Given the description of an element on the screen output the (x, y) to click on. 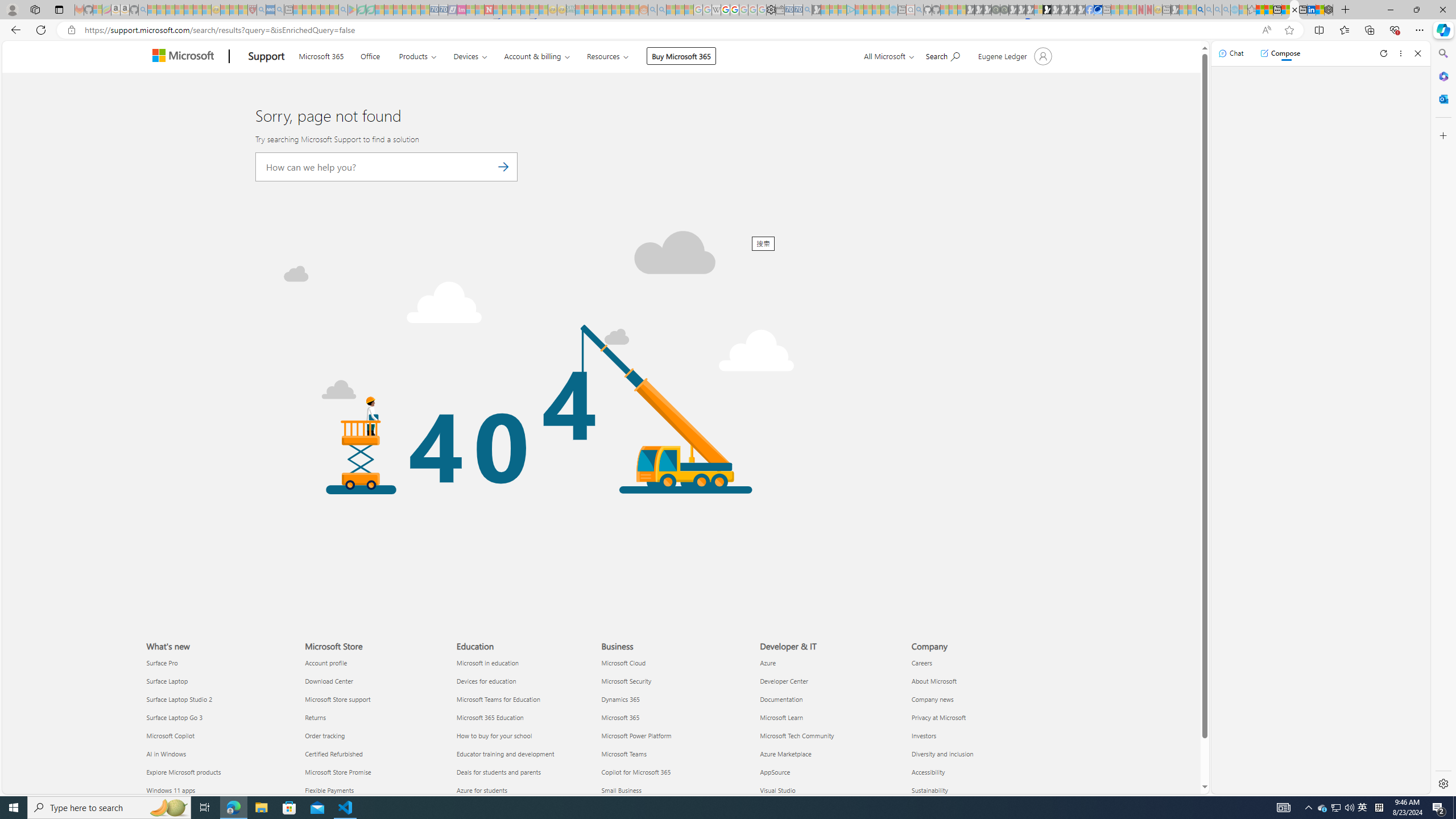
Microsoft Store support (373, 698)
Microsoft Teams for Education (525, 698)
Explore Microsoft products What's new (183, 771)
Investors Company (923, 734)
Visual Studio (829, 789)
How to buy for your school Education (493, 734)
Account profile Microsoft Store (325, 662)
Surface Laptop Go 3 (218, 717)
Microsoft Copilot What's new (170, 734)
